Given the description of an element on the screen output the (x, y) to click on. 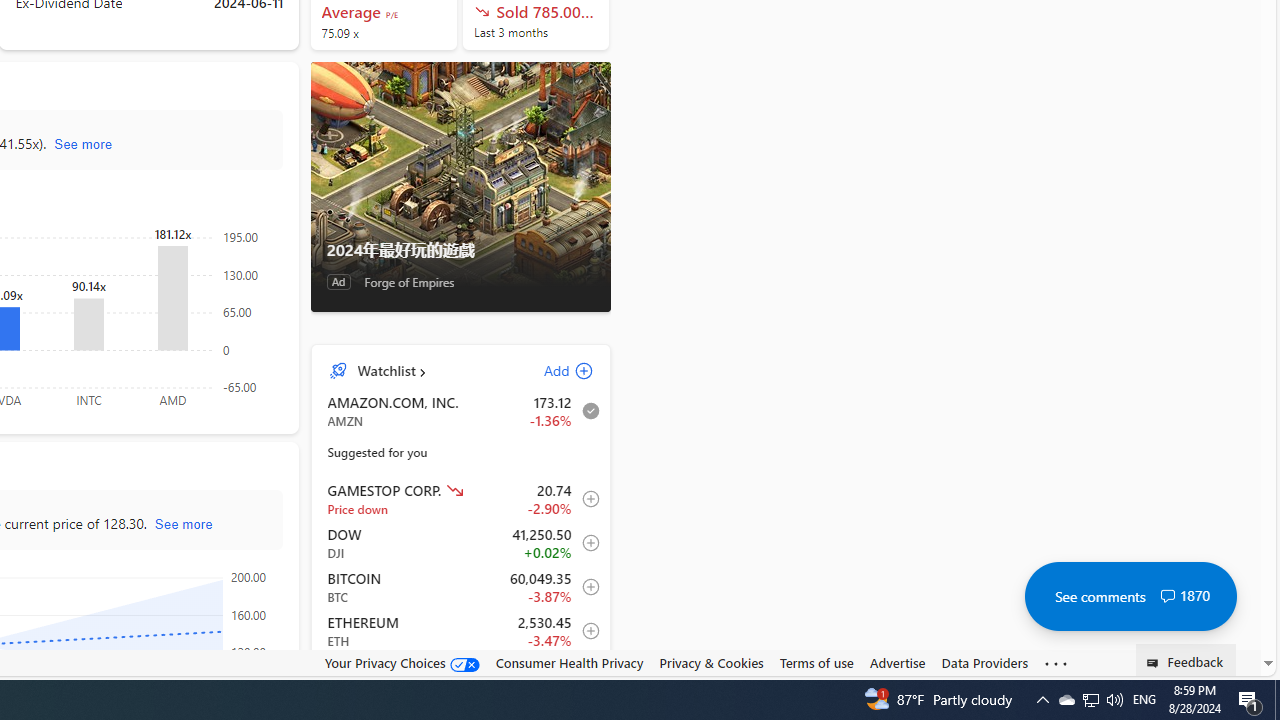
BTC Bitcoin decrease 60,049.35 -2,320.91 -3.87% item2 (461, 587)
